Given the description of an element on the screen output the (x, y) to click on. 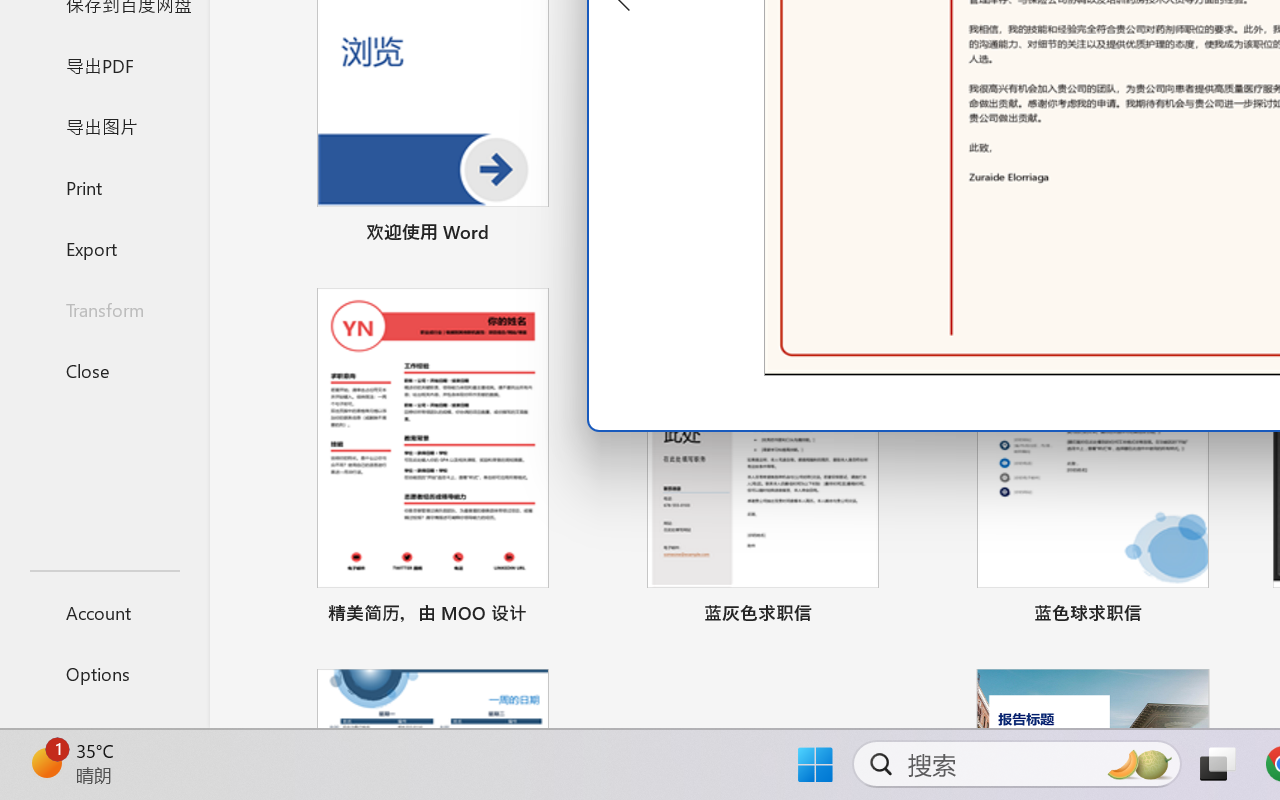
Pin to list (1223, 616)
Export (104, 248)
Options (104, 673)
Print (104, 186)
Account (104, 612)
